Given the description of an element on the screen output the (x, y) to click on. 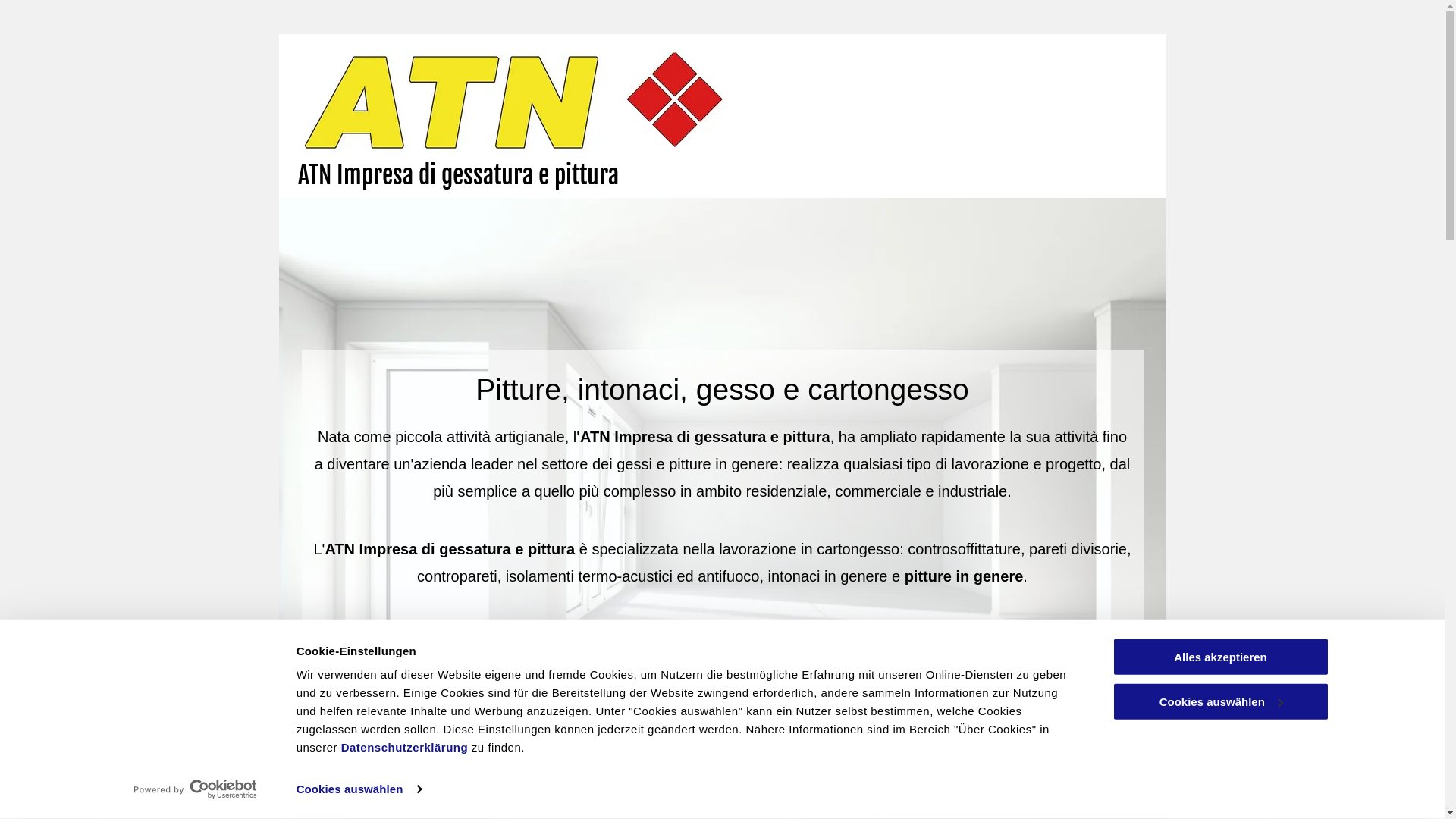
091 606 56 07 Element type: text (721, 642)
ATN Impresa di gessatura e pittura Element type: text (457, 175)
Alles akzeptieren Element type: text (1219, 656)
